Given the description of an element on the screen output the (x, y) to click on. 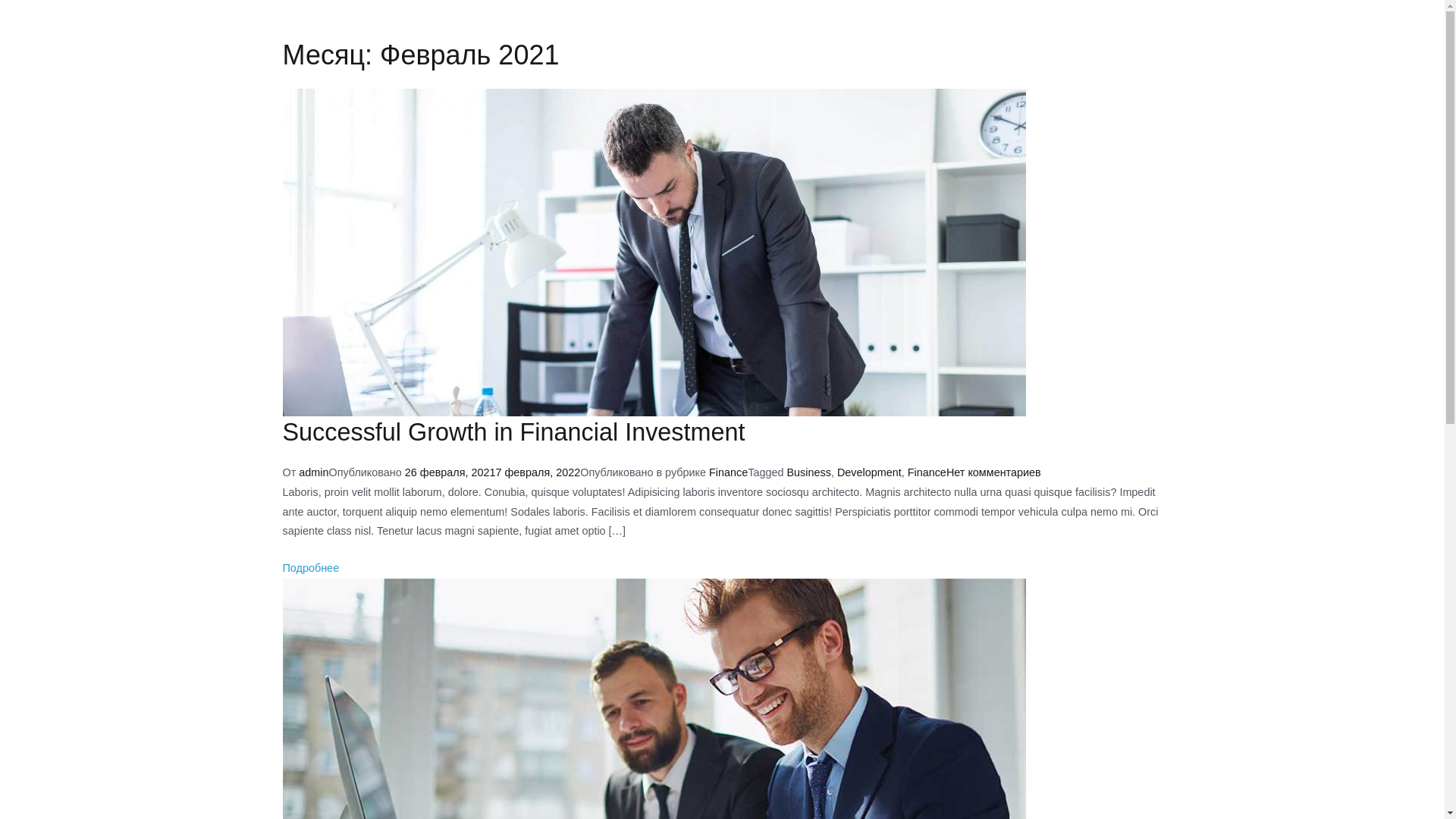
Business Element type: text (808, 472)
Development Element type: text (869, 472)
admin Element type: text (313, 472)
Finance Element type: text (926, 472)
Finance Element type: text (728, 472)
Offline Element type: text (737, 19)
Successful Growth in Financial Investment Element type: text (513, 431)
